Given the description of an element on the screen output the (x, y) to click on. 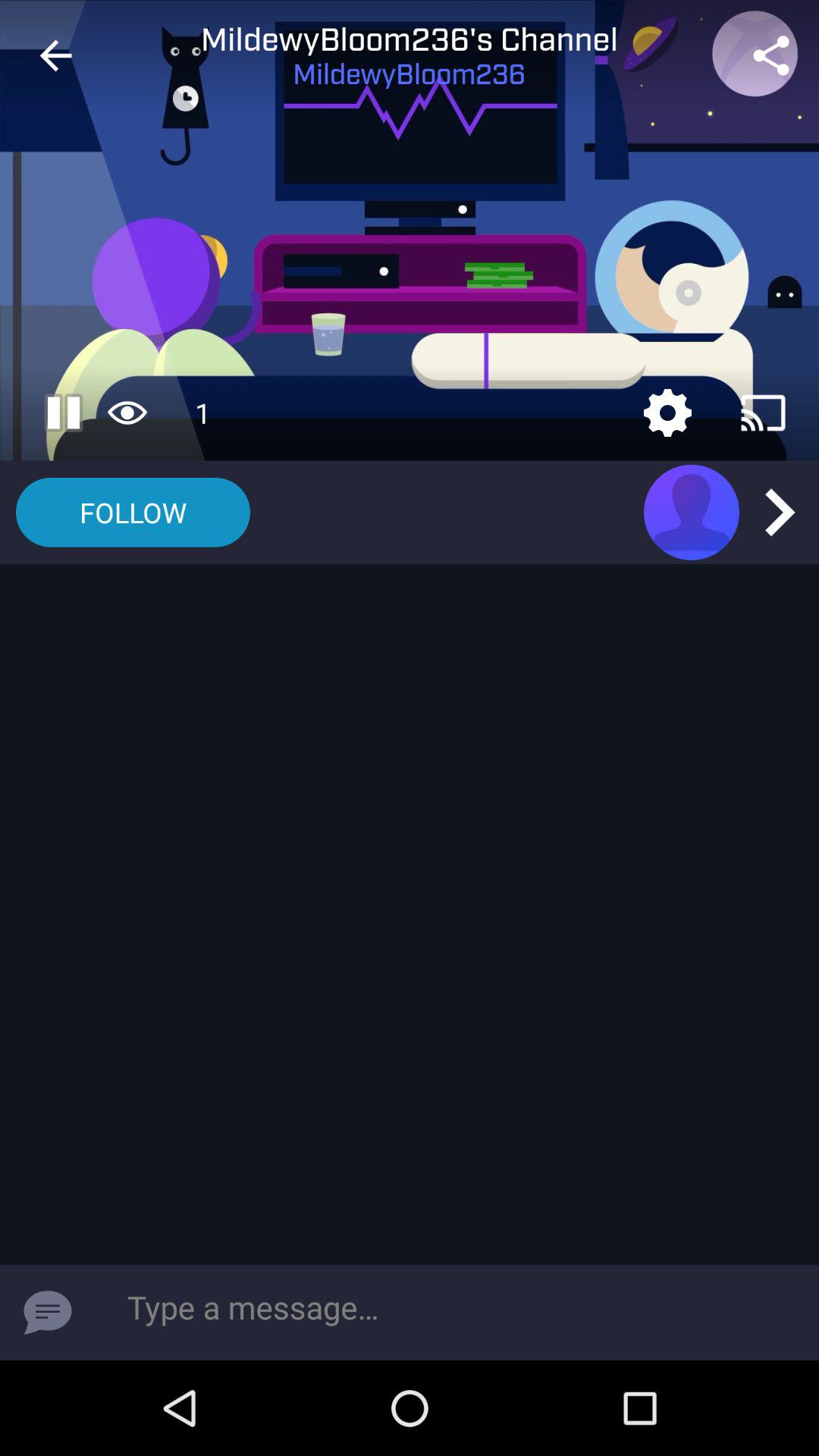
toggle settings (667, 412)
